Given the description of an element on the screen output the (x, y) to click on. 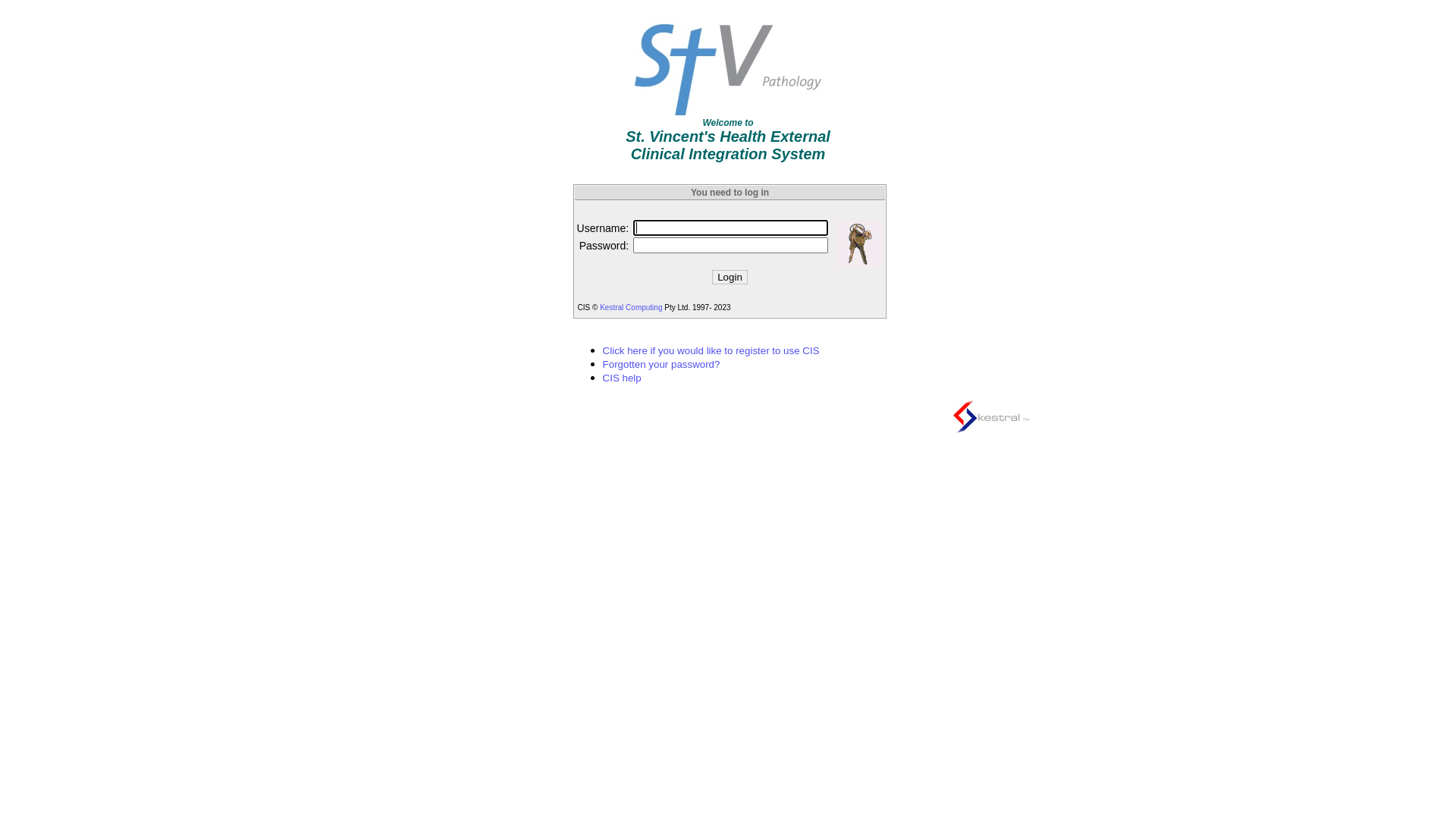
Login Element type: text (729, 276)
CIS help Element type: text (621, 377)
Forgotten your password? Element type: text (661, 364)
Click here if you would like to register to use CIS Element type: text (710, 350)
Kestral Computing Element type: text (630, 307)
